Given the description of an element on the screen output the (x, y) to click on. 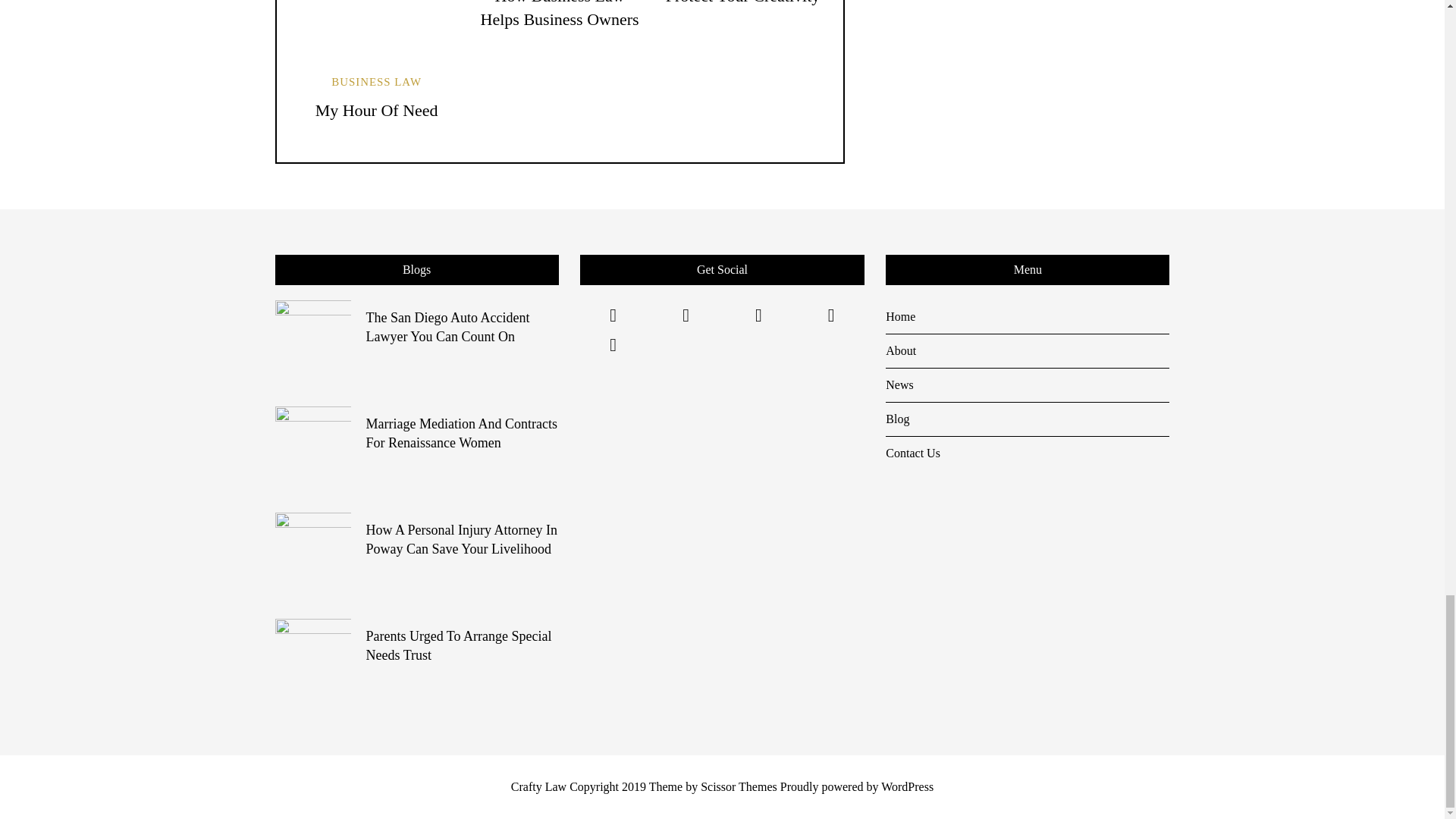
Permalink to: "My Hour Of Need" (376, 28)
My Hour Of Need (376, 109)
BUSINESS LAW (376, 81)
How Business Law Helps Business Owners (559, 14)
Permalink to: "Parents Urged To Arrange Special Needs Trust" (312, 655)
Permalink to Parents Urged To Arrange Special Needs Trust (458, 645)
